Given the description of an element on the screen output the (x, y) to click on. 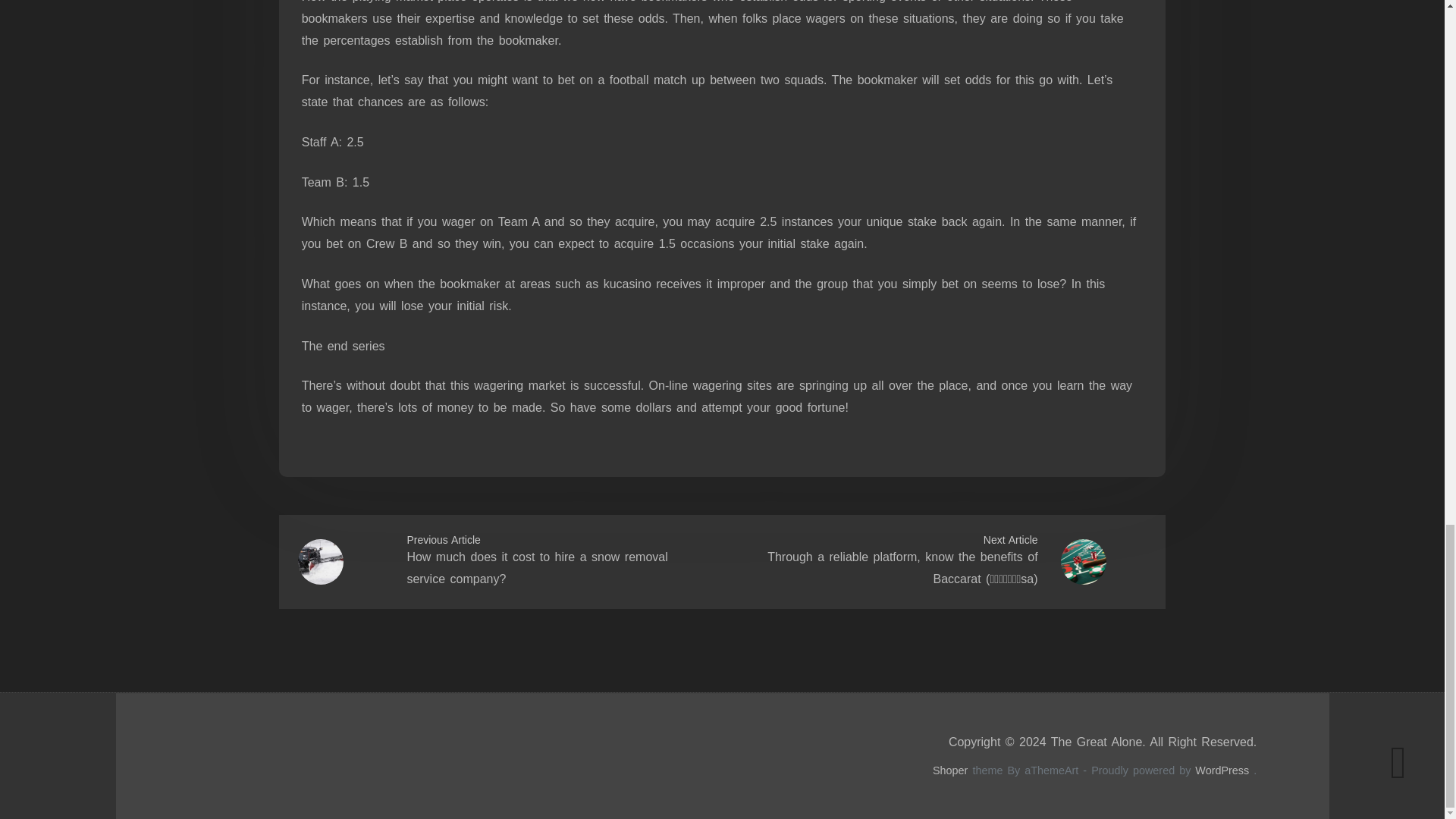
Shoper (950, 770)
WordPress (1222, 770)
